Given the description of an element on the screen output the (x, y) to click on. 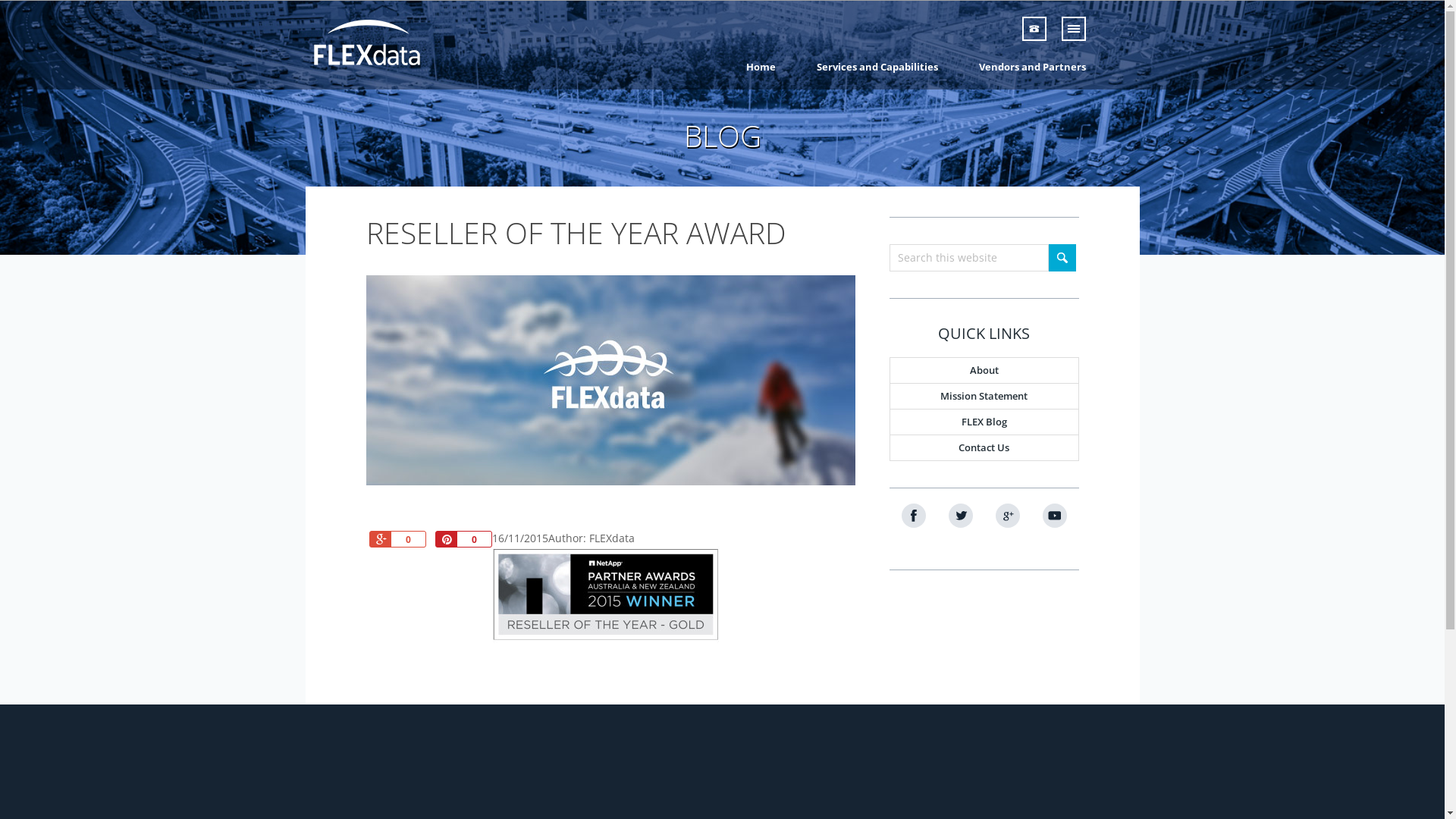
07 3160 3691 Element type: text (1077, 28)
About Element type: text (984, 369)
FLEXdata Element type: hover (388, 41)
Home Element type: text (760, 66)
Contact Us Element type: text (984, 447)
Services and Capabilities Element type: text (877, 66)
Mission Statement Element type: text (984, 395)
Google+ Element type: text (1006, 515)
Vendors and Partners Element type: text (1032, 66)
YouTube Element type: text (1053, 515)
Facebook Element type: text (912, 515)
FLEX Blog Element type: text (984, 421)
Twitter Element type: text (959, 515)
Search Element type: text (1061, 257)
